Given the description of an element on the screen output the (x, y) to click on. 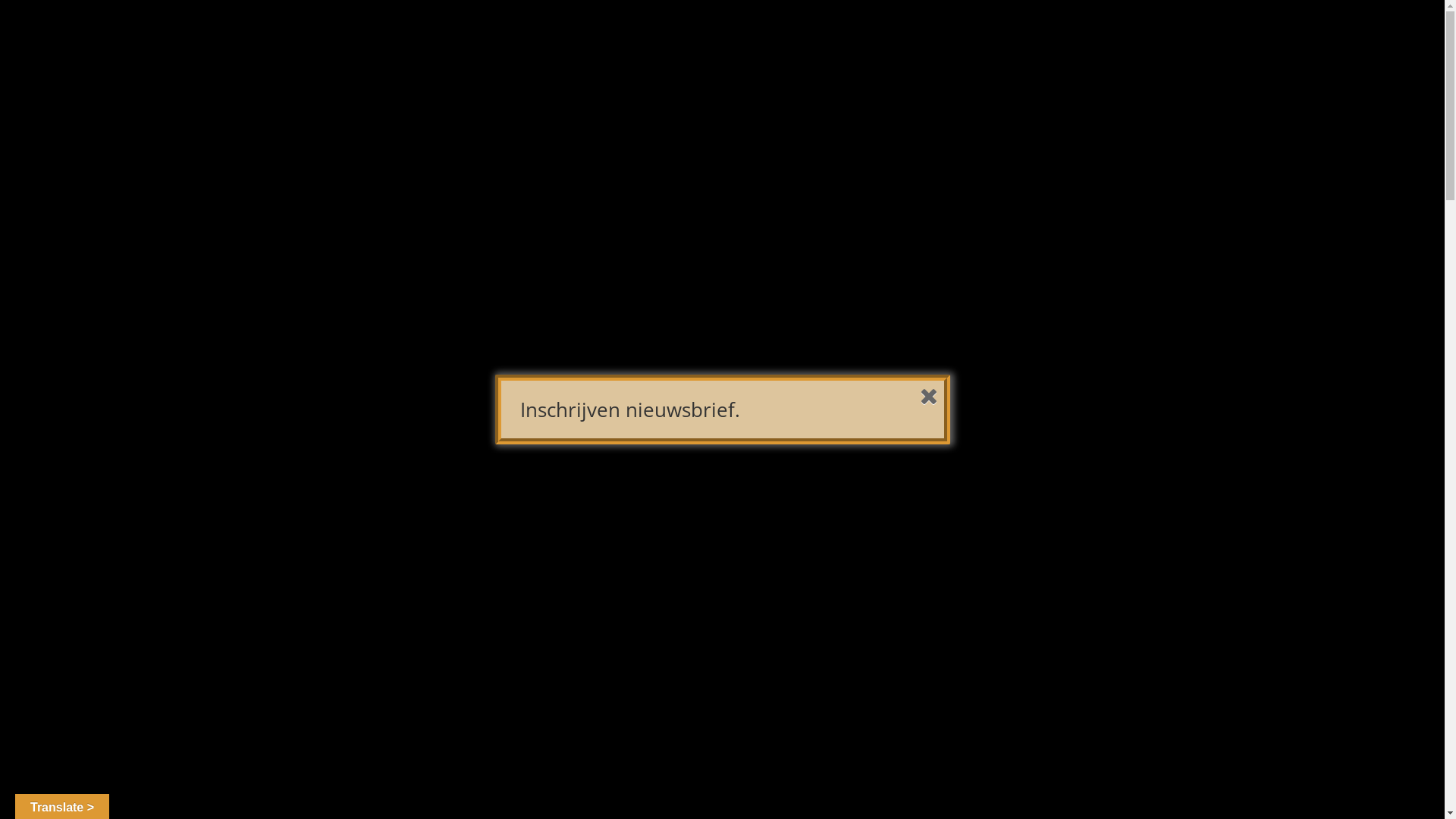
Raad aan ouders Element type: text (795, 28)
Organisaties Element type: text (958, 28)
bezorgdeouders-admin Element type: text (387, 126)
Contact Element type: text (1168, 28)
Zoeken Element type: text (1105, 102)
Christian Van Mechelen Element type: text (1043, 524)
0 comments Element type: text (640, 126)
Agenda Element type: text (568, 28)
Startpagina Element type: text (283, 28)
Actualiteiten Element type: text (639, 28)
Actualiteiten Element type: text (564, 126)
Wie zijn we? Element type: text (364, 28)
Hoe debat over EVRAS en genderideologie onmogelijk wordt. Element type: text (1053, 403)
Nieuwsbrief Element type: text (498, 28)
Over EVRAS: seks banaler dan alcohol? Element type: text (1048, 453)
Inschrijven nieuwsbrief. Element type: text (630, 409)
Acties Element type: text (430, 28)
Politiek Element type: text (712, 28)
Irreversible Damage Element type: text (846, 706)
Steun ons Element type: text (1102, 28)
Klachten Element type: text (1034, 28)
Experten Element type: text (882, 28)
